Given the description of an element on the screen output the (x, y) to click on. 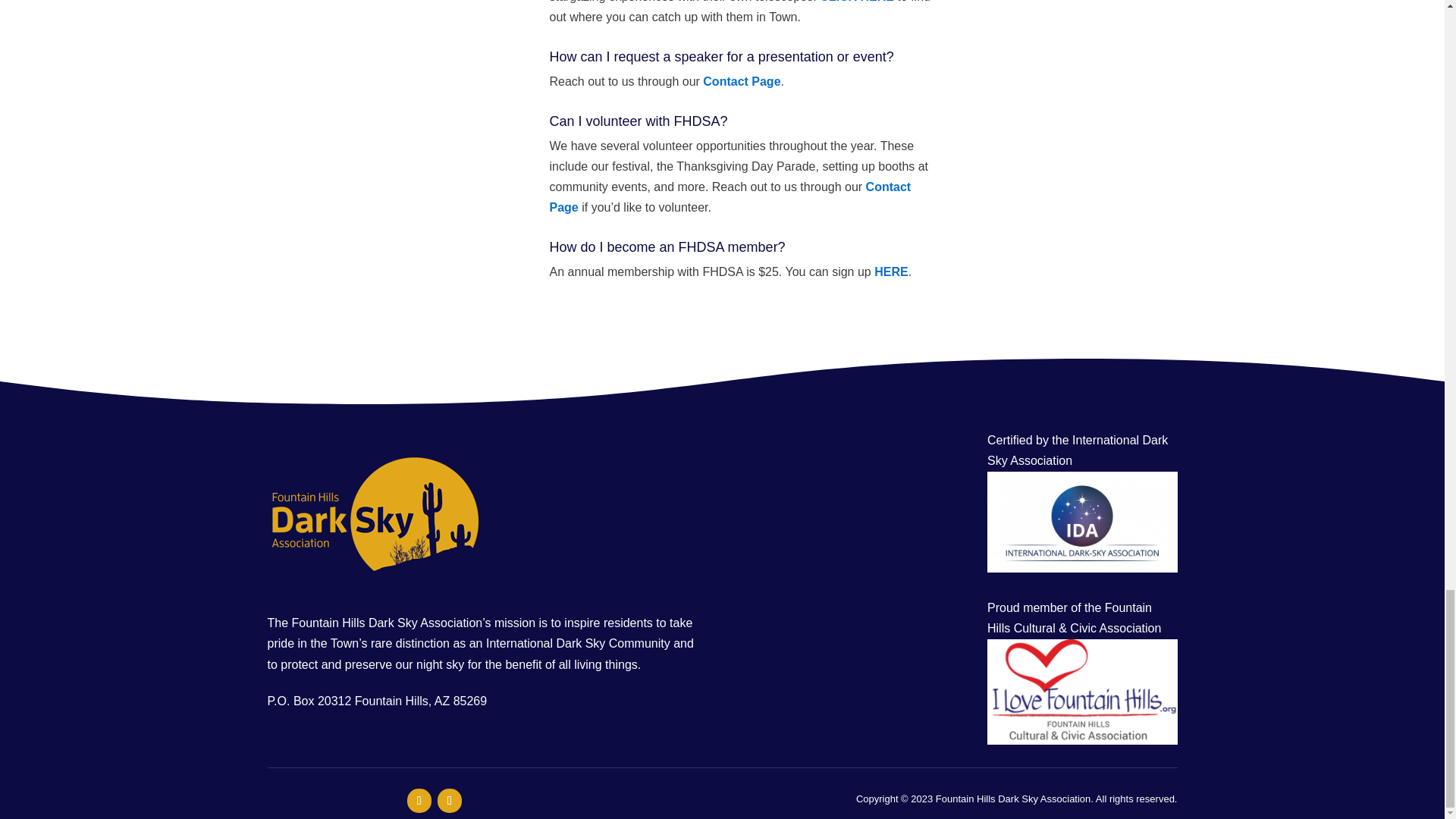
Follow on Youtube (449, 800)
Follow on Facebook (418, 800)
IDA Logo (1082, 522)
FH-Dark-Skies-Logo-sm (380, 521)
ILFH Logo (1082, 691)
